Given the description of an element on the screen output the (x, y) to click on. 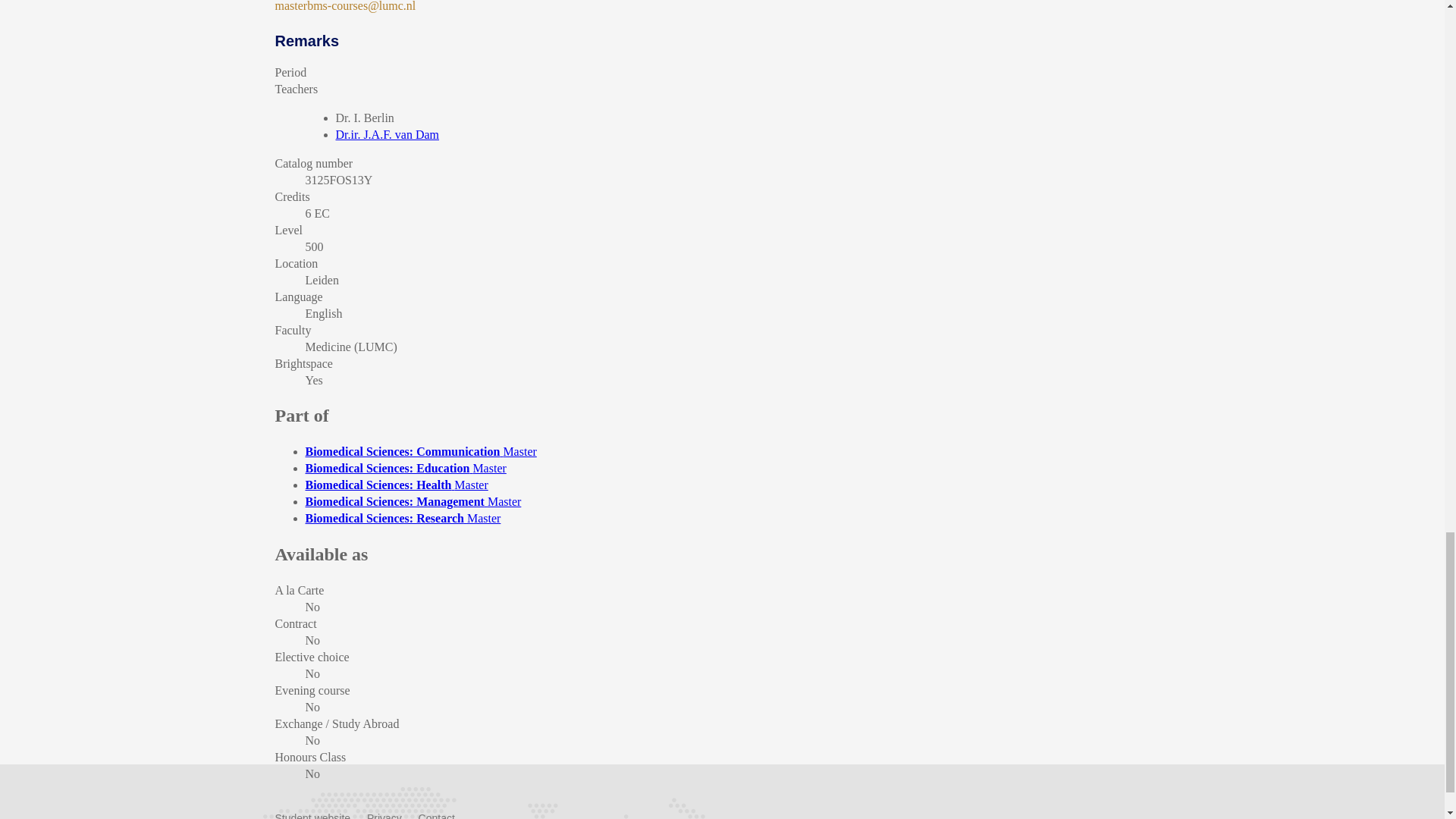
Biomedical Sciences: Research Master (402, 517)
Student website (312, 815)
Biomedical Sciences: Education Master (404, 468)
Biomedical Sciences: Management Master (412, 501)
Biomedical Sciences: Communication Master (419, 451)
Privacy (383, 815)
Dr.ir. J.A.F. van Dam (386, 133)
Biomedical Sciences: Health Master (395, 484)
Contact (436, 815)
